Given the description of an element on the screen output the (x, y) to click on. 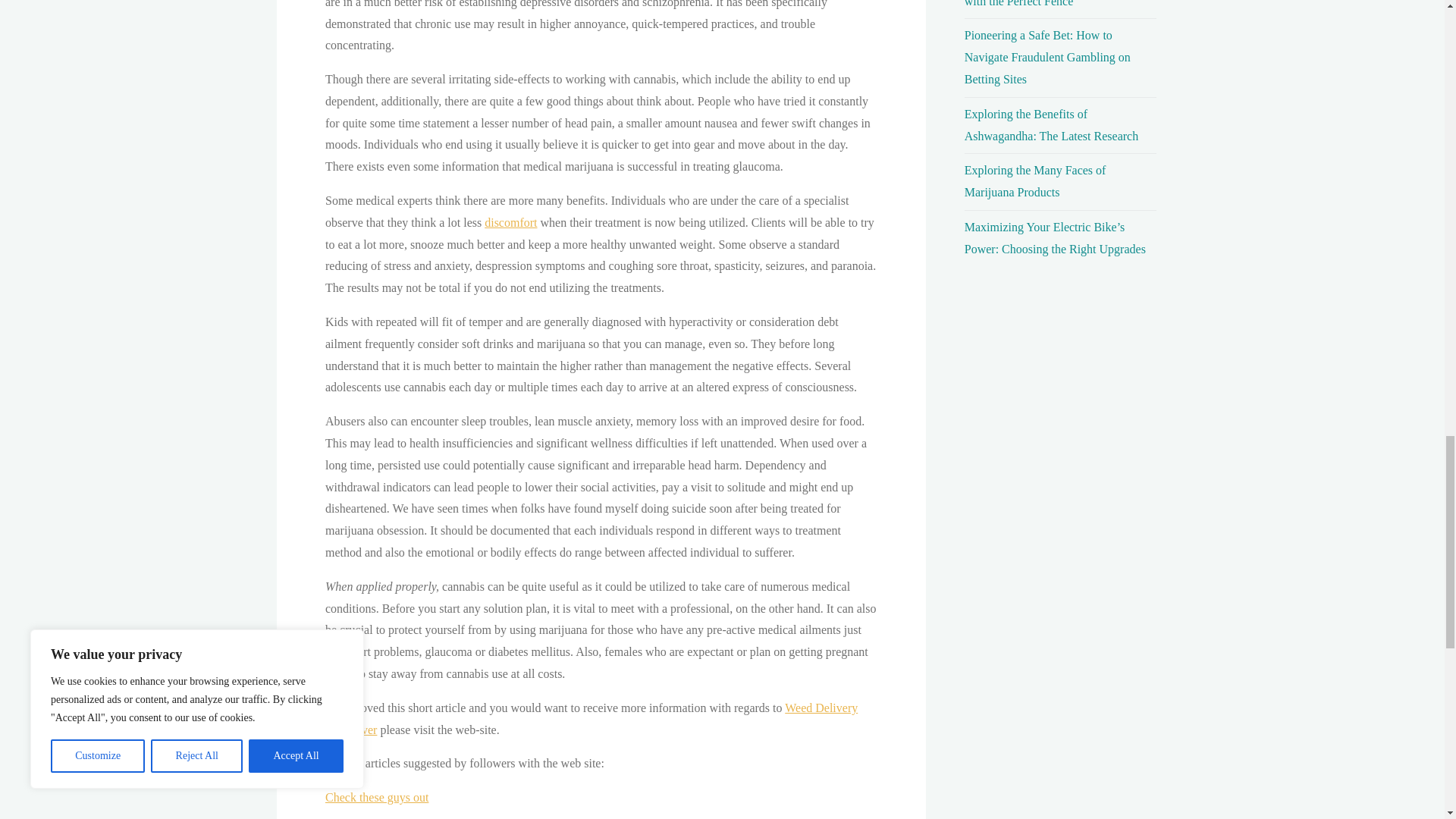
Weed Delivery Vancouver (590, 718)
Check these guys out (376, 797)
discomfort (510, 222)
